Given the description of an element on the screen output the (x, y) to click on. 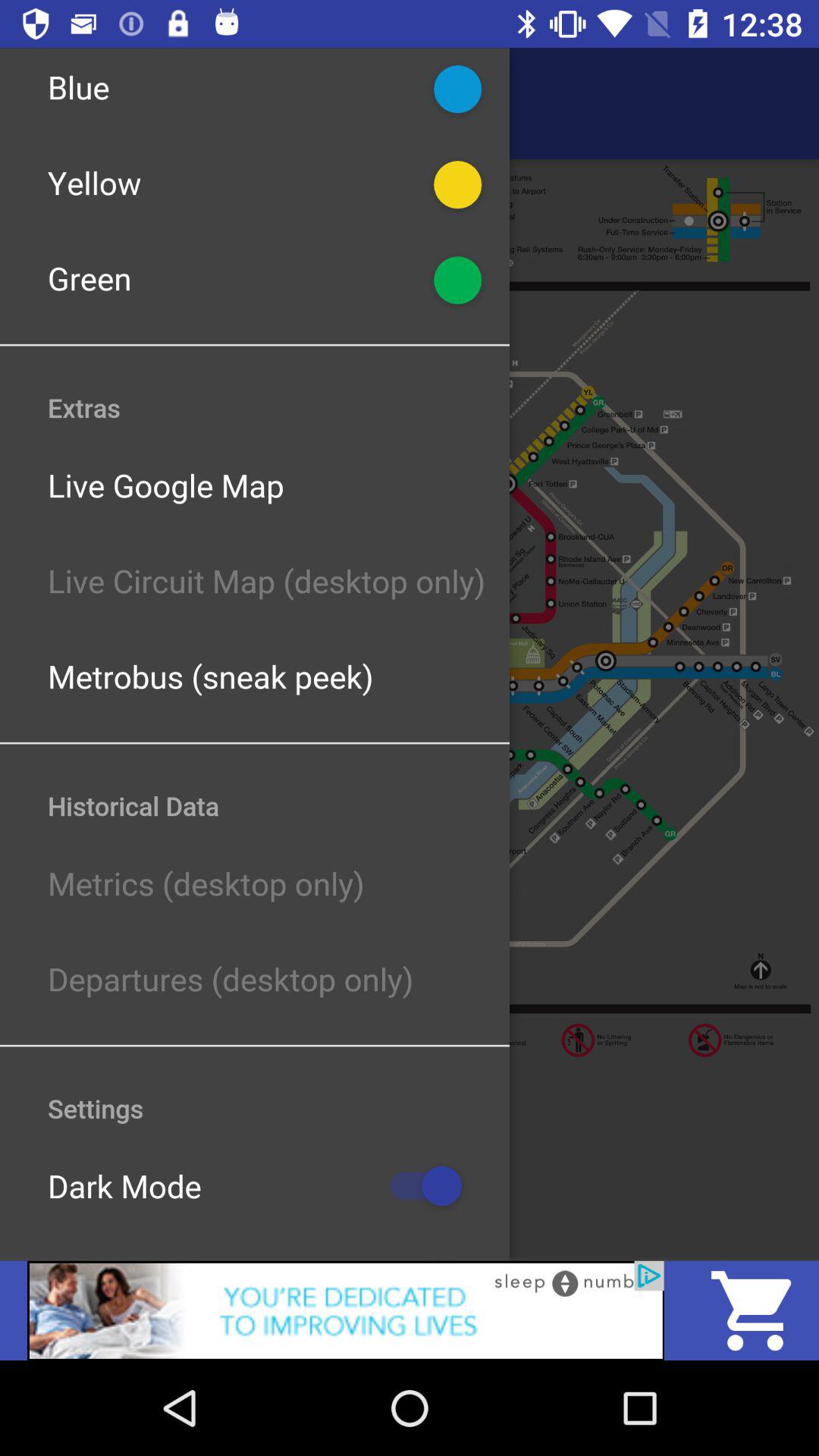
add the option (345, 1310)
